Given the description of an element on the screen output the (x, y) to click on. 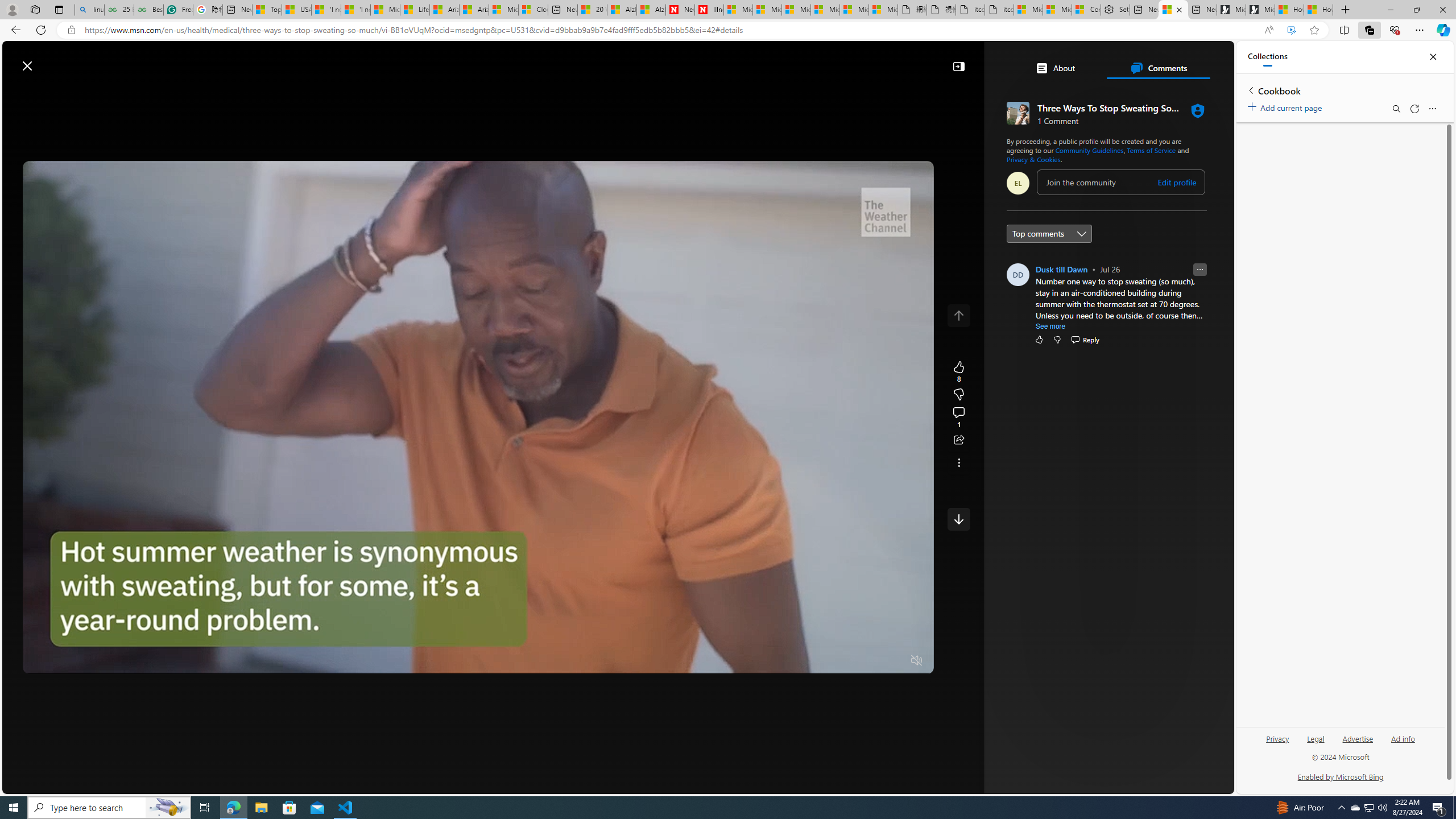
Ad info (1402, 742)
Microsoft Services Agreement (767, 9)
Lifestyle - MSN (413, 9)
Cloud Computing Services | Microsoft Azure (533, 9)
View comments 1 Comment (958, 417)
ABC News (1060, 415)
Privacy (1278, 738)
Community Guidelines (1089, 149)
Reuters (1060, 316)
Class: button-glyph (182, 92)
Consumer Health Data Privacy Policy (1086, 9)
